Given the description of an element on the screen output the (x, y) to click on. 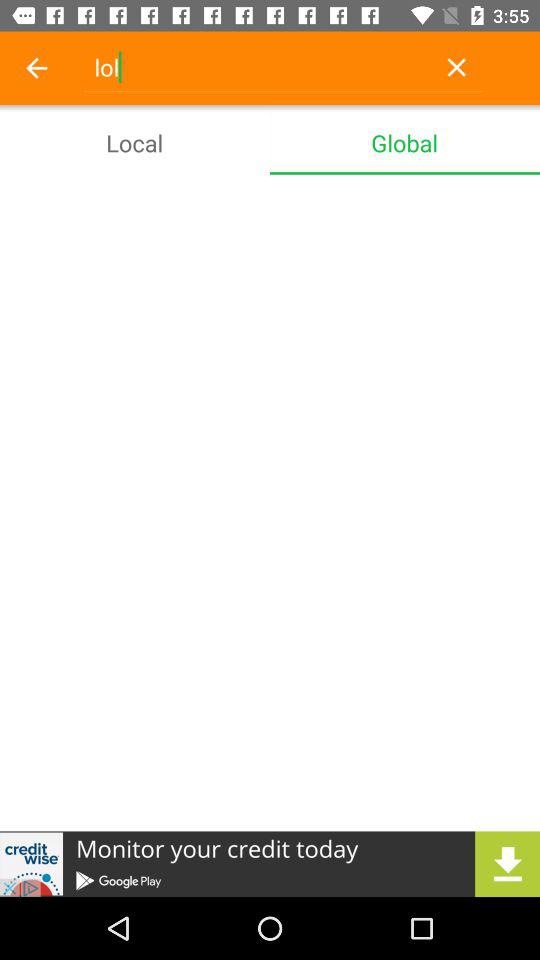
advertisement display (270, 864)
